Given the description of an element on the screen output the (x, y) to click on. 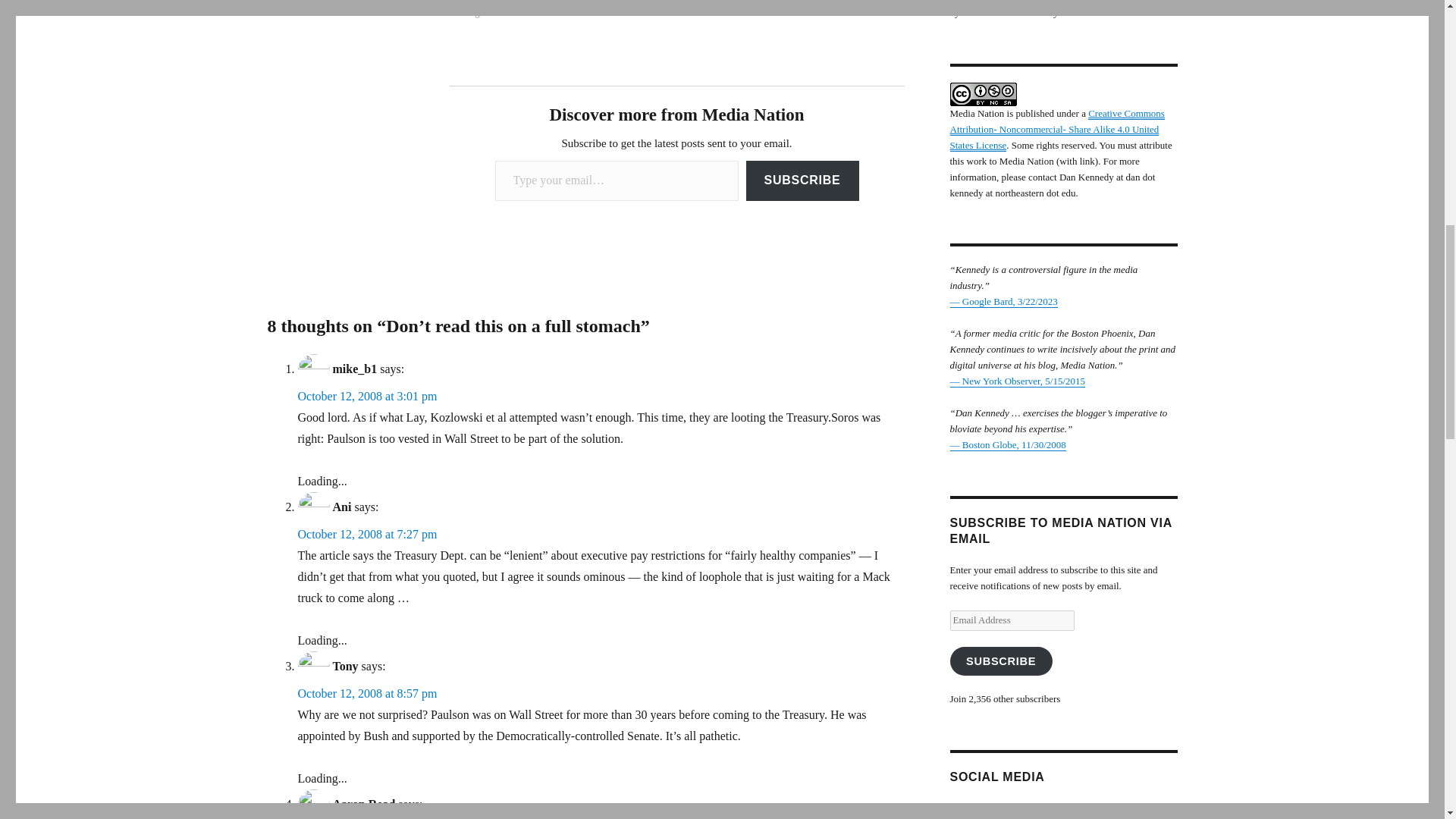
October 12, 2008 at 3:01 pm (366, 395)
October 12, 2008 at 7:27 pm (366, 533)
Please fill in this field. (616, 180)
October 12, 2008 at 8:57 pm (366, 693)
SUBSCRIBE (802, 180)
